Given the description of an element on the screen output the (x, y) to click on. 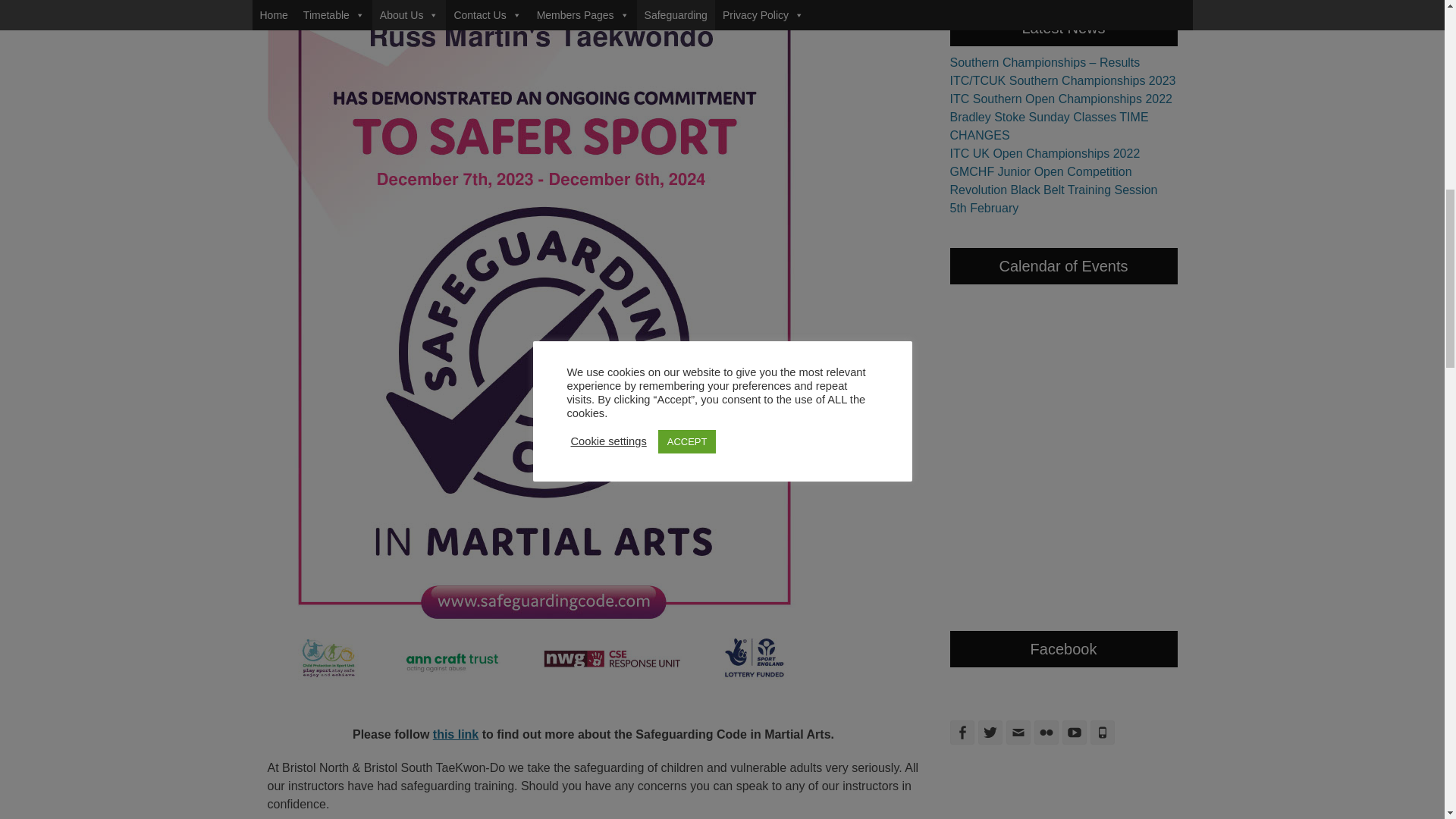
Email (1017, 732)
Twitter (990, 732)
Facebook (961, 732)
YouTube (1073, 732)
Flickr (1045, 732)
